Given the description of an element on the screen output the (x, y) to click on. 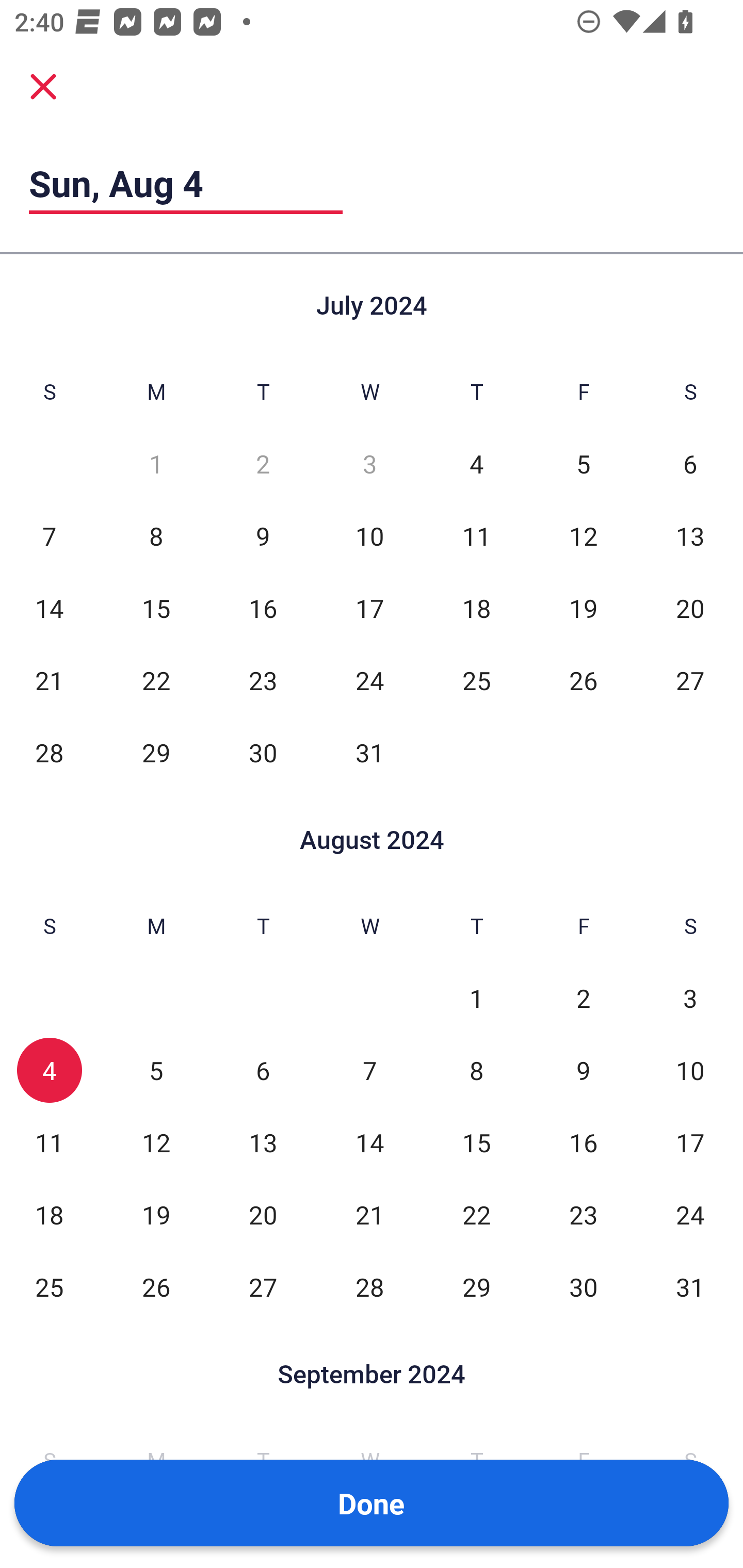
Cancel (43, 86)
Sun, Aug 4 (185, 182)
1 Mon, Jul 1, Not Selected (156, 464)
2 Tue, Jul 2, Not Selected (263, 464)
3 Wed, Jul 3, Not Selected (369, 464)
4 Thu, Jul 4, Not Selected (476, 464)
5 Fri, Jul 5, Not Selected (583, 464)
6 Sat, Jul 6, Not Selected (690, 464)
7 Sun, Jul 7, Not Selected (49, 536)
8 Mon, Jul 8, Not Selected (156, 536)
9 Tue, Jul 9, Not Selected (263, 536)
10 Wed, Jul 10, Not Selected (369, 536)
11 Thu, Jul 11, Not Selected (476, 536)
12 Fri, Jul 12, Not Selected (583, 536)
13 Sat, Jul 13, Not Selected (690, 536)
14 Sun, Jul 14, Not Selected (49, 608)
15 Mon, Jul 15, Not Selected (156, 608)
16 Tue, Jul 16, Not Selected (263, 608)
17 Wed, Jul 17, Not Selected (369, 608)
18 Thu, Jul 18, Not Selected (476, 608)
19 Fri, Jul 19, Not Selected (583, 608)
20 Sat, Jul 20, Not Selected (690, 608)
21 Sun, Jul 21, Not Selected (49, 680)
22 Mon, Jul 22, Not Selected (156, 680)
23 Tue, Jul 23, Not Selected (263, 680)
24 Wed, Jul 24, Not Selected (369, 680)
25 Thu, Jul 25, Not Selected (476, 680)
26 Fri, Jul 26, Not Selected (583, 680)
27 Sat, Jul 27, Not Selected (690, 680)
28 Sun, Jul 28, Not Selected (49, 752)
29 Mon, Jul 29, Not Selected (156, 752)
30 Tue, Jul 30, Not Selected (263, 752)
31 Wed, Jul 31, Not Selected (369, 752)
1 Thu, Aug 1, Not Selected (476, 997)
2 Fri, Aug 2, Not Selected (583, 997)
3 Sat, Aug 3, Not Selected (690, 997)
4 Sun, Aug 4, Selected (49, 1070)
5 Mon, Aug 5, Not Selected (156, 1070)
6 Tue, Aug 6, Not Selected (263, 1070)
7 Wed, Aug 7, Not Selected (369, 1070)
8 Thu, Aug 8, Not Selected (476, 1070)
9 Fri, Aug 9, Not Selected (583, 1070)
10 Sat, Aug 10, Not Selected (690, 1070)
11 Sun, Aug 11, Not Selected (49, 1143)
12 Mon, Aug 12, Not Selected (156, 1143)
13 Tue, Aug 13, Not Selected (263, 1143)
14 Wed, Aug 14, Not Selected (369, 1143)
15 Thu, Aug 15, Not Selected (476, 1143)
16 Fri, Aug 16, Not Selected (583, 1143)
17 Sat, Aug 17, Not Selected (690, 1143)
